Given the description of an element on the screen output the (x, y) to click on. 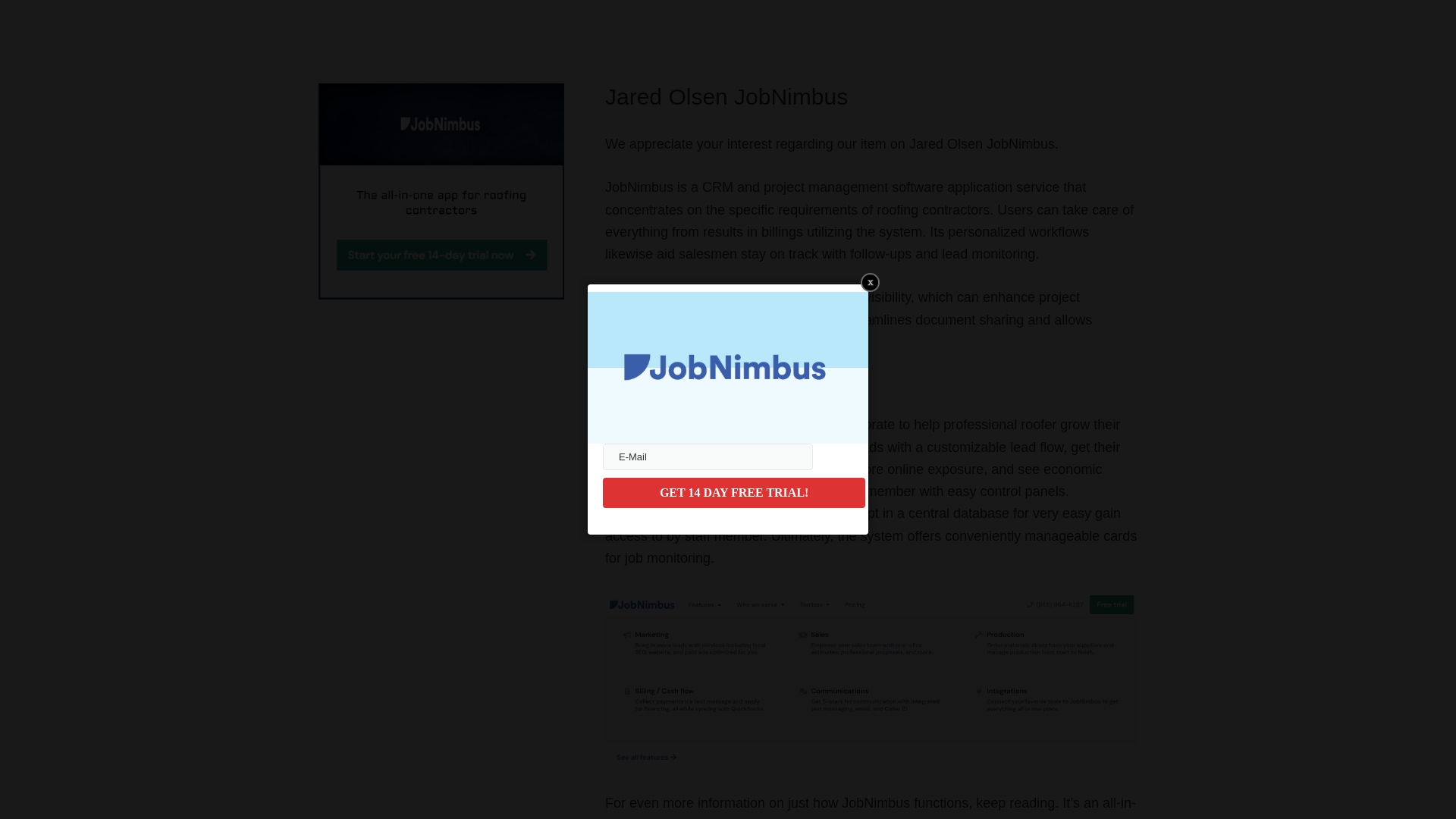
GET 14 DAY FREE TRIAL! (733, 492)
GET 14 DAY FREE TRIAL! (733, 492)
